Given the description of an element on the screen output the (x, y) to click on. 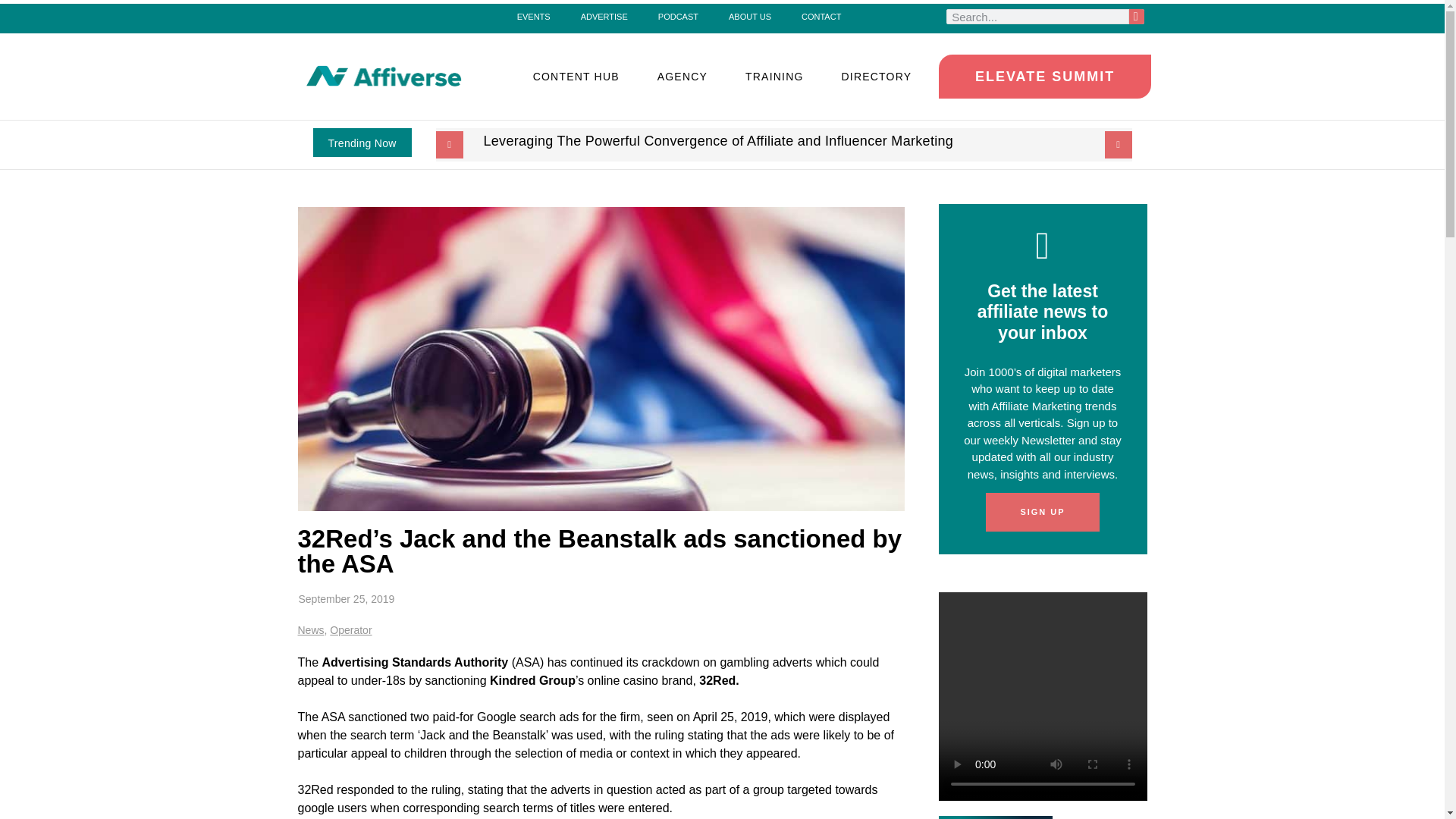
DIRECTORY (876, 76)
ABOUT US (749, 16)
AGENCY (682, 76)
PODCAST (678, 16)
CONTENT HUB (576, 76)
TRAINING (774, 76)
ADVERTISE (604, 16)
CONTACT (821, 16)
EVENTS (534, 16)
